Given the description of an element on the screen output the (x, y) to click on. 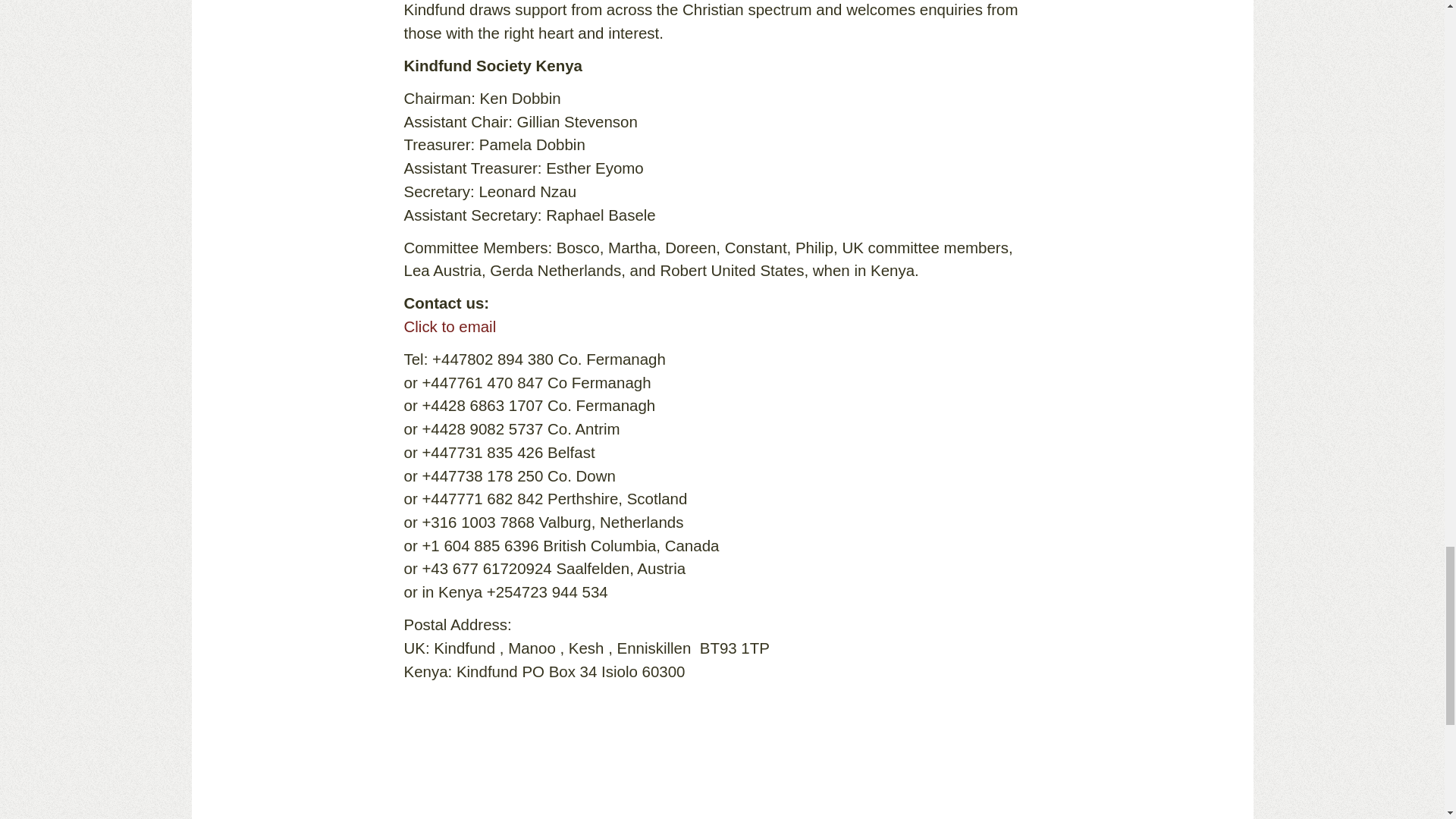
Click to email (449, 325)
